Given the description of an element on the screen output the (x, y) to click on. 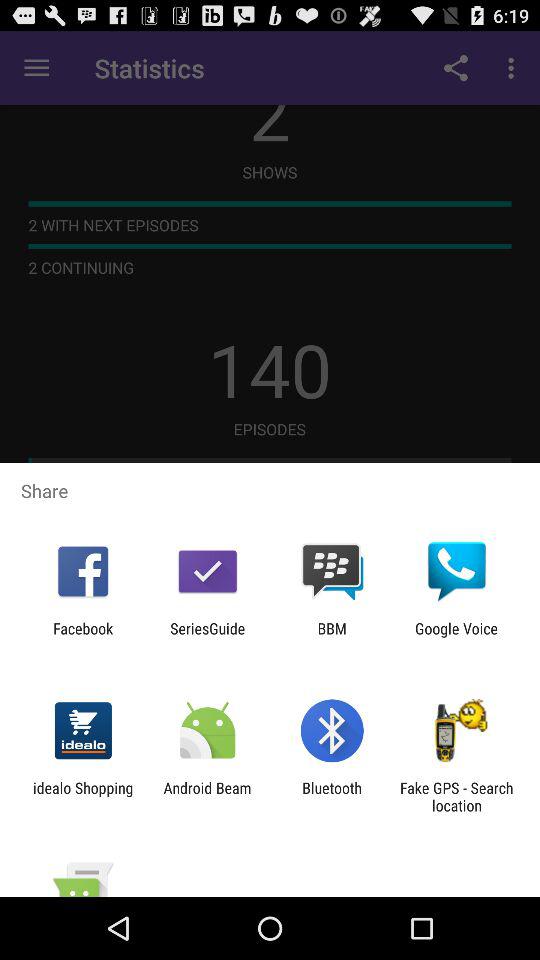
choose item to the left of android beam (83, 796)
